Given the description of an element on the screen output the (x, y) to click on. 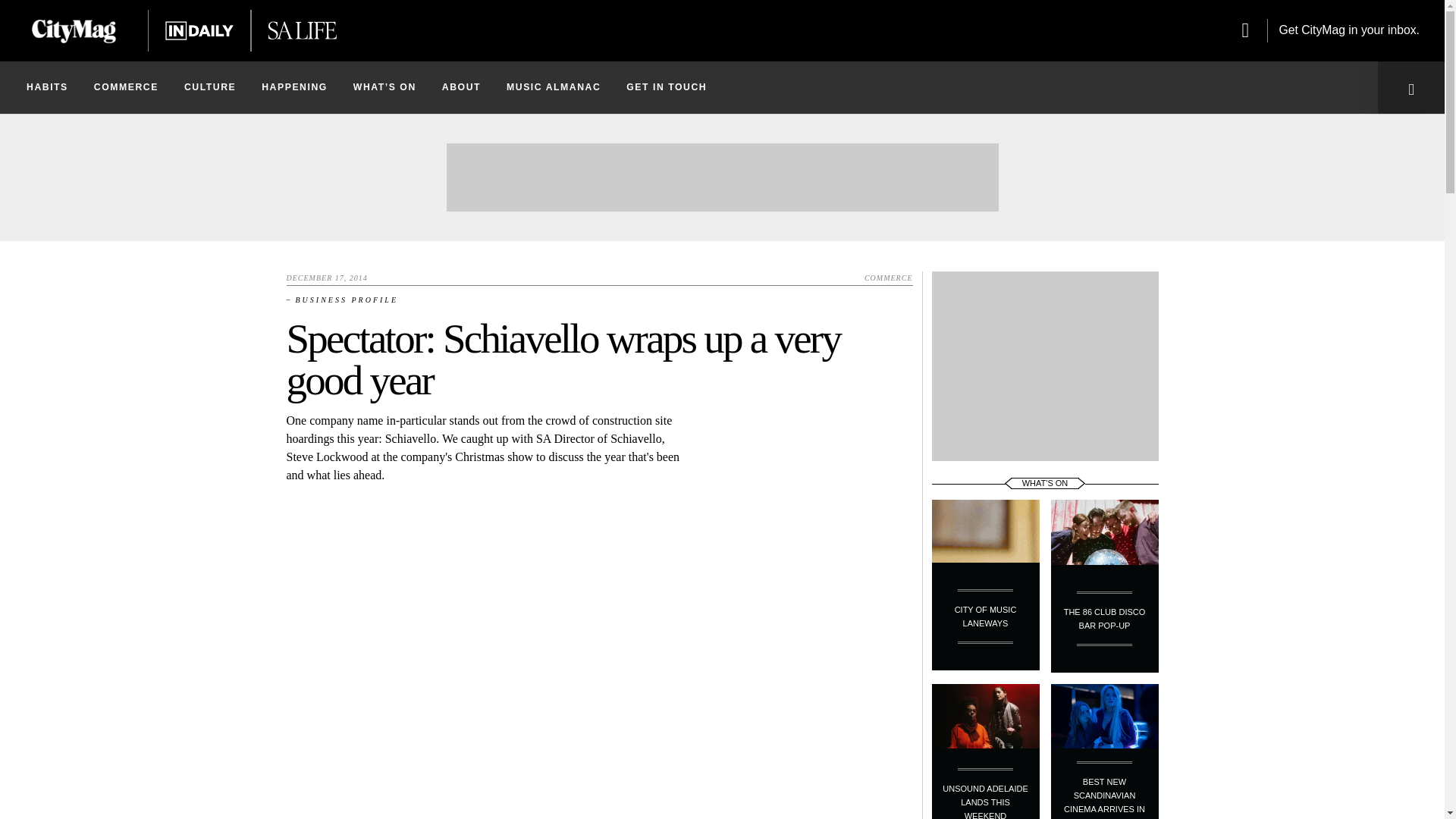
HAPPENING (294, 87)
Get CityMag in your inbox. (1330, 30)
COMMERCE (126, 87)
3rd party ad content (721, 177)
ABOUT (461, 87)
CULTURE (209, 87)
GET IN TOUCH (665, 87)
3rd party ad content (1044, 366)
WHAT'S ON (1045, 482)
HABITS (47, 87)
MUSIC ALMANAC (552, 87)
